Given the description of an element on the screen output the (x, y) to click on. 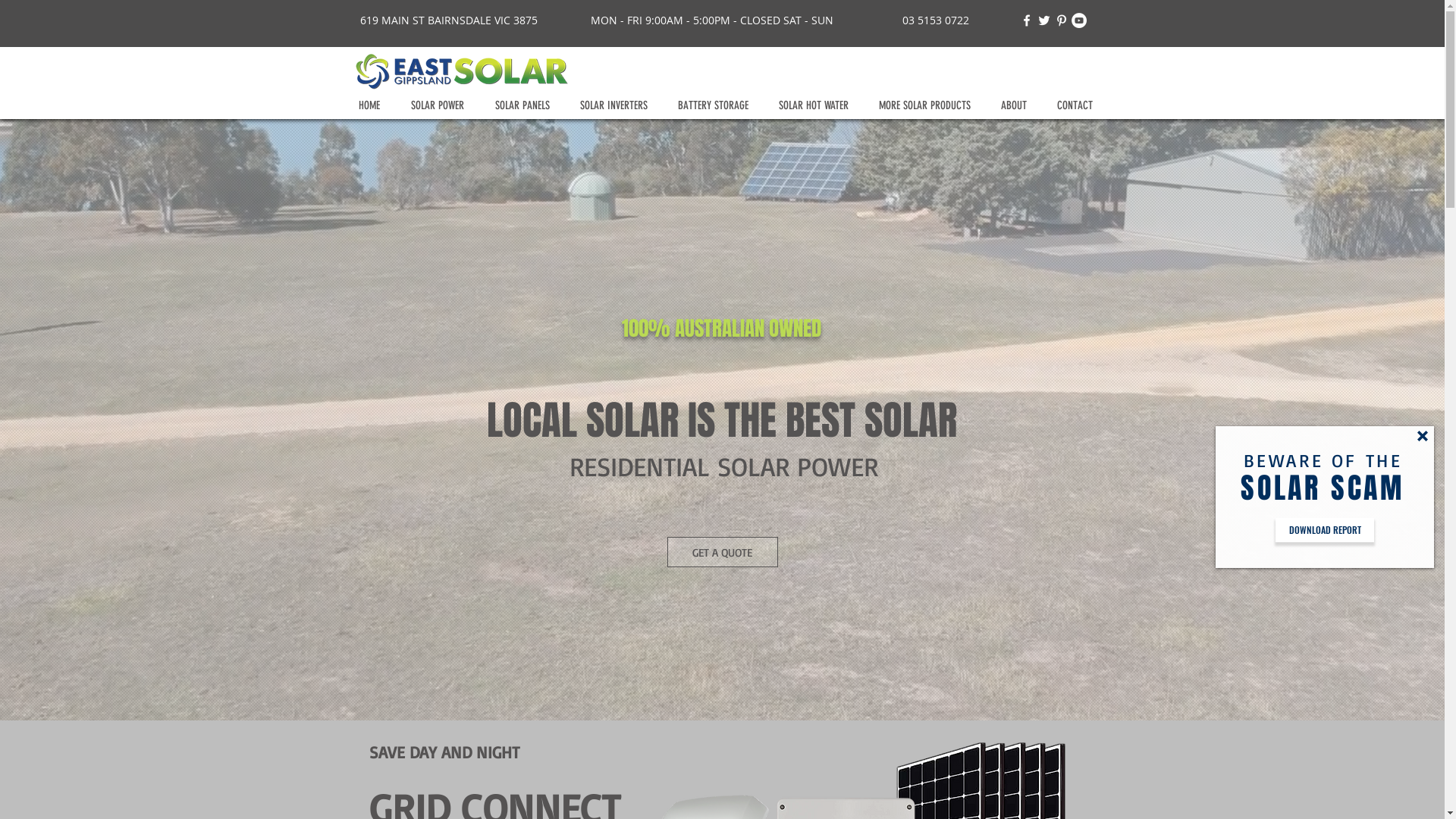
SOLAR HOT WATER Element type: text (817, 105)
SOLAR POWER Element type: text (440, 105)
Back to site Element type: hover (1422, 435)
CONTACT Element type: text (1077, 105)
ABOUT Element type: text (1016, 105)
East Gippsland Solar - Local Solar Is The Best Solar Element type: hover (459, 70)
HOME Element type: text (373, 105)
GET A QUOTE Element type: text (722, 551)
DOWNLOAD REPORT Element type: text (1324, 529)
TWIPLA (Visitor Analytics) Element type: hover (720, 273)
